Given the description of an element on the screen output the (x, y) to click on. 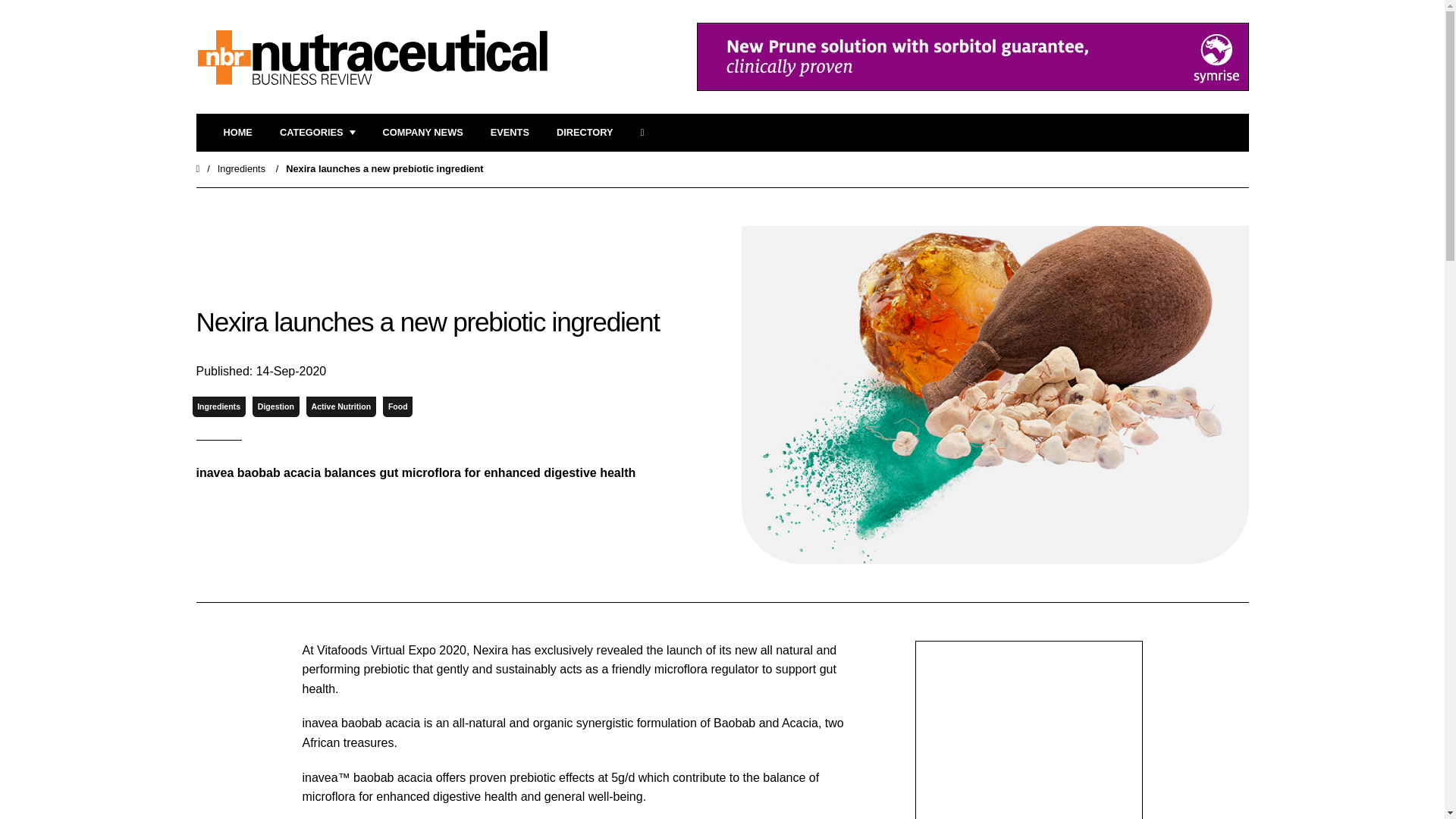
SEARCH (646, 133)
Digestion (274, 406)
CATEGORIES (317, 133)
HOME (236, 133)
DIRECTORY (584, 133)
Ingredients (240, 168)
EVENTS (509, 133)
Ingredients (219, 406)
Active Nutrition (340, 406)
Directory (584, 133)
